Given the description of an element on the screen output the (x, y) to click on. 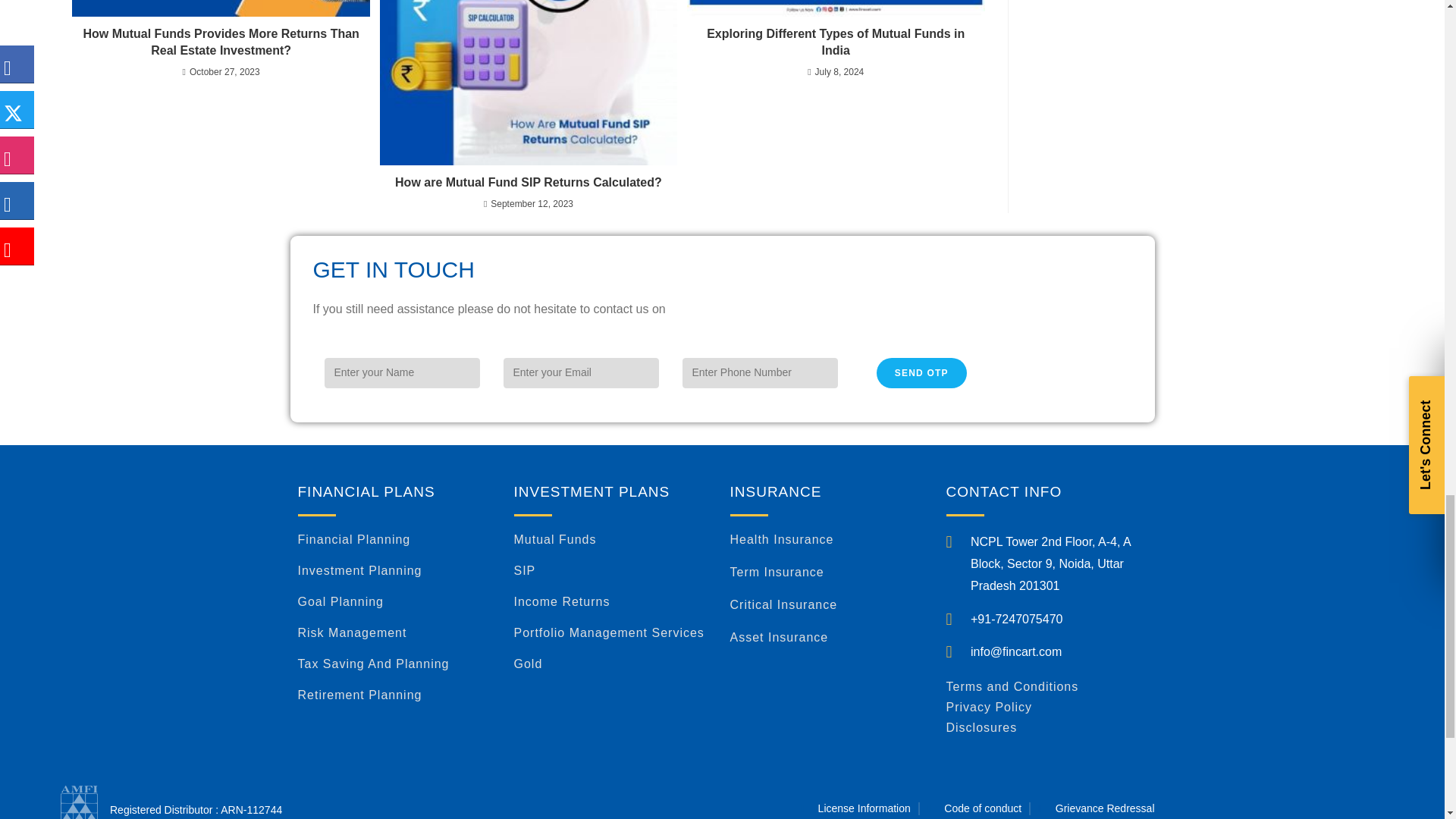
Send OTP (922, 372)
